Given the description of an element on the screen output the (x, y) to click on. 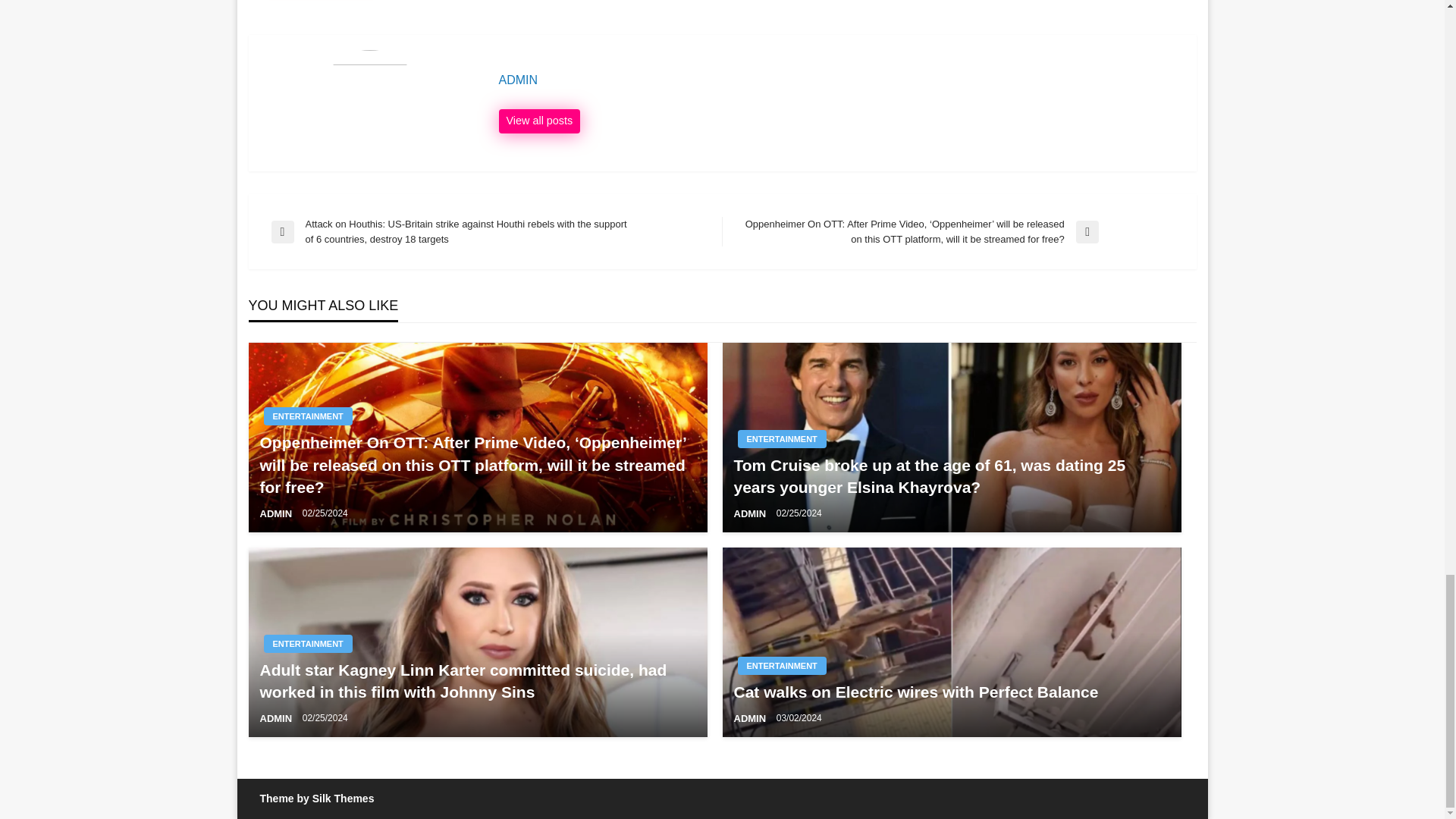
ADMIN (750, 513)
ENTERTAINMENT (780, 665)
ENTERTAINMENT (307, 416)
ADMIN (539, 120)
ADMIN (276, 717)
ADMIN (276, 513)
ADMIN (839, 79)
